Given the description of an element on the screen output the (x, y) to click on. 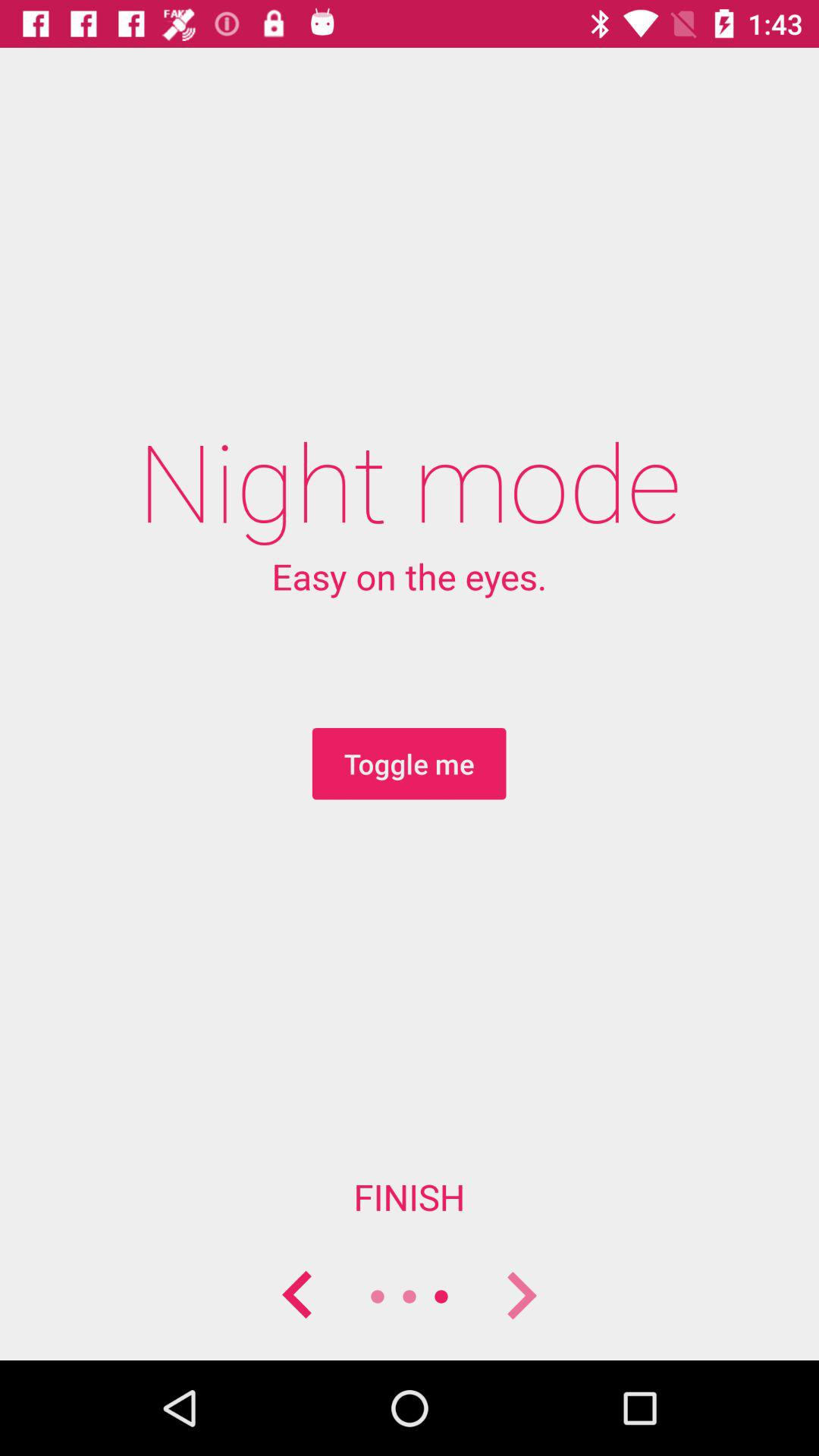
back (297, 1296)
